Given the description of an element on the screen output the (x, y) to click on. 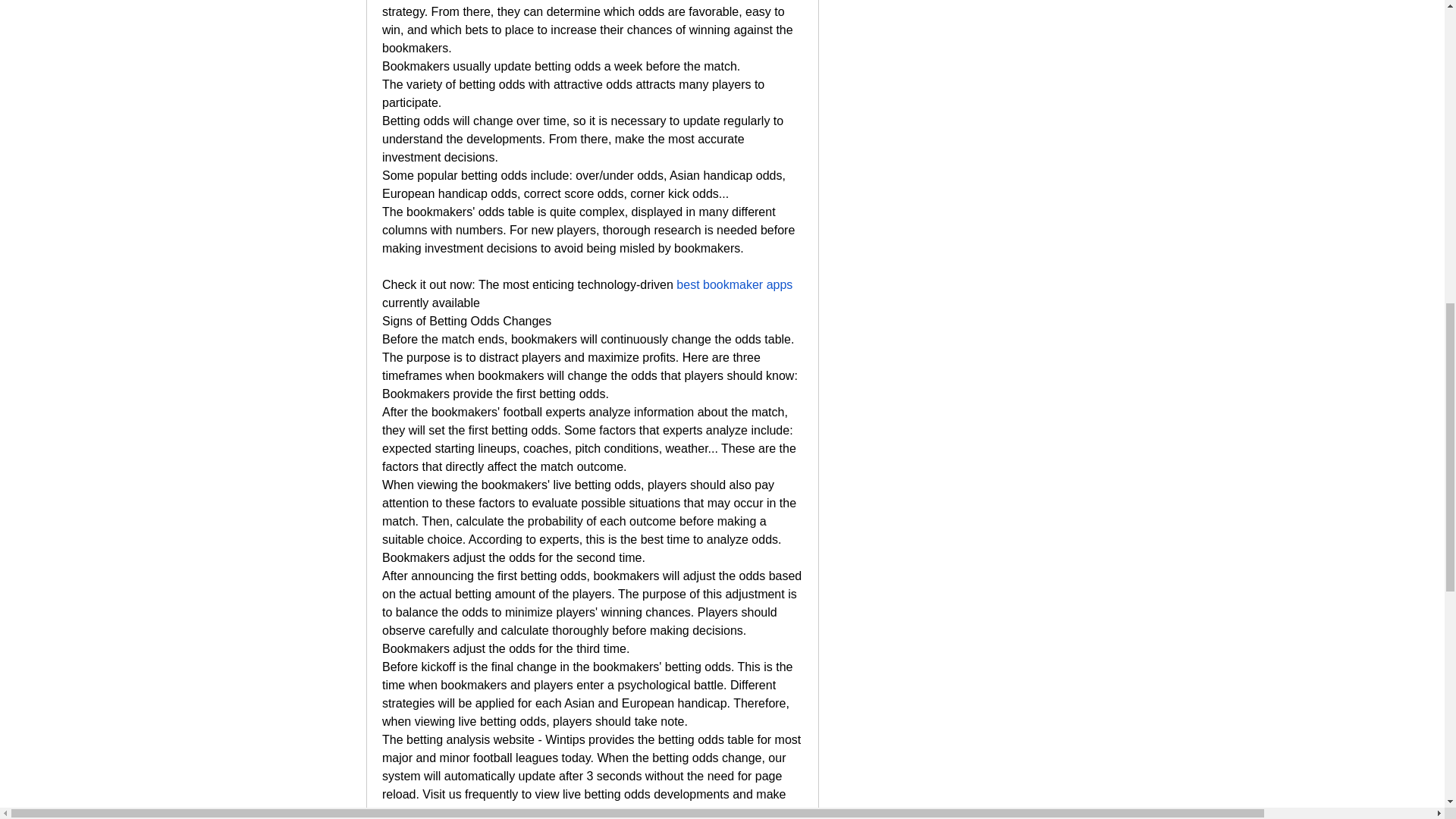
best bookmaker apps (734, 284)
